Given the description of an element on the screen output the (x, y) to click on. 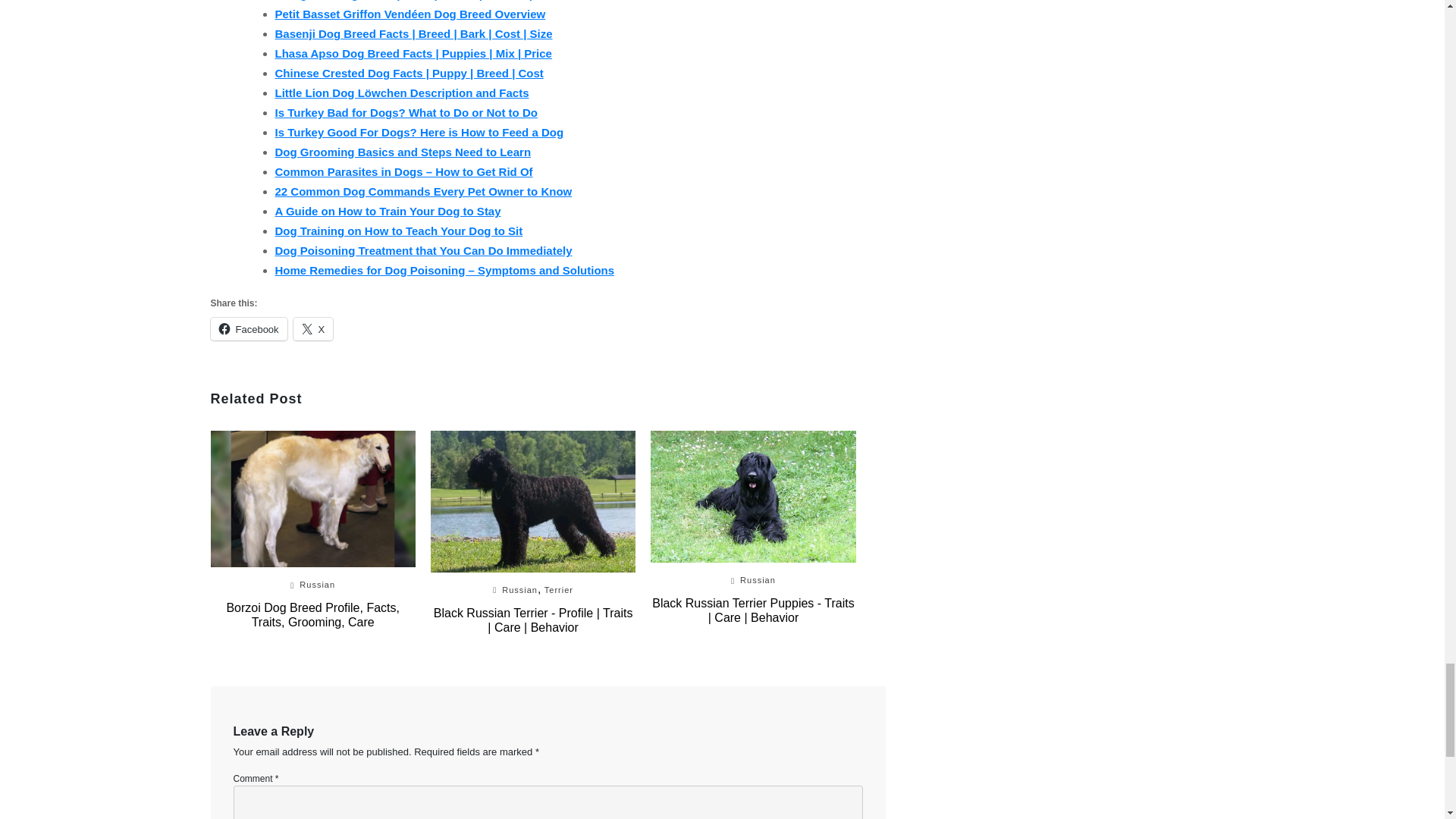
Is Turkey Good For Dogs? Here is How to Feed a Dog (419, 132)
Dog Grooming Basics and Steps Need to Learn (403, 151)
Facebook (248, 328)
A Guide on How to Train Your Dog to Stay (387, 210)
22 Common Dog Commands Every Pet Owner to Know (423, 191)
Dog Poisoning Treatment that You Can Do Immediately (423, 250)
Click to share on X (313, 328)
Click to share on Facebook (248, 328)
Dog Training on How to Teach Your Dog to Sit (398, 230)
Is Turkey Bad for Dogs? What to Do or Not to Do (406, 112)
X (313, 328)
